Given the description of an element on the screen output the (x, y) to click on. 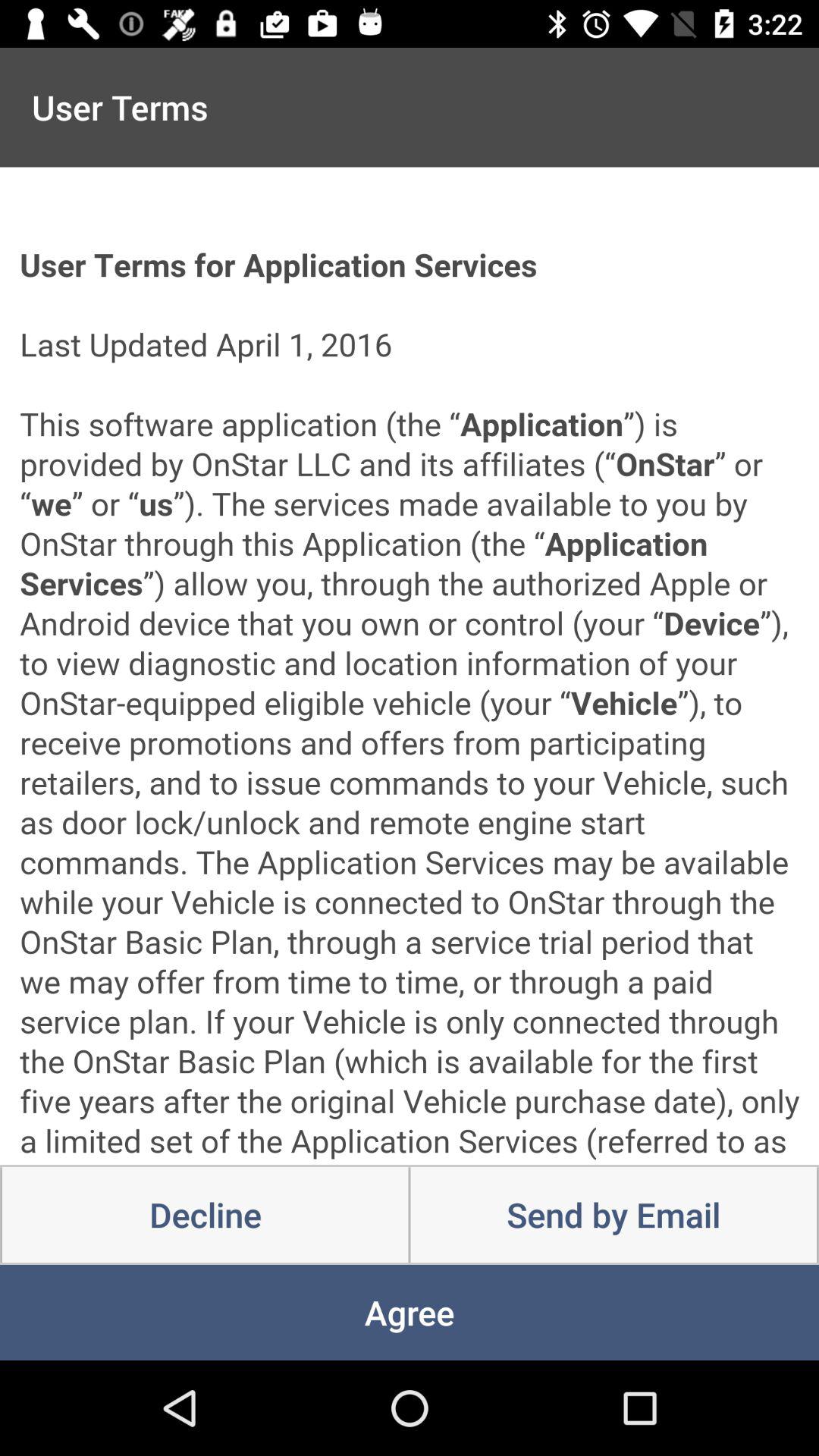
swipe to agree item (409, 1312)
